Given the description of an element on the screen output the (x, y) to click on. 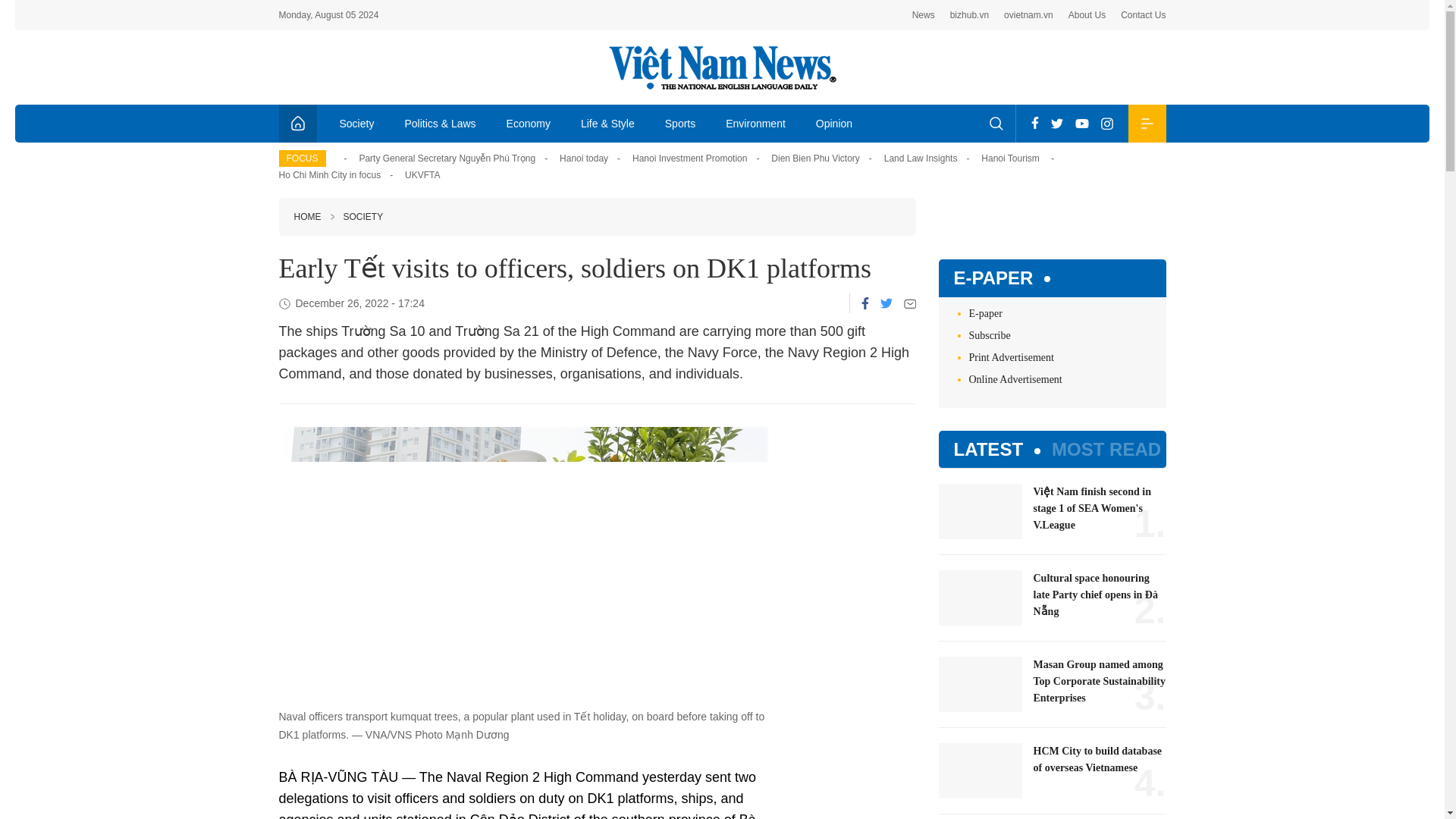
Twitter (1056, 122)
Environment (755, 123)
Twitter (885, 303)
ovietnam.vn (1028, 15)
Contact Us (1143, 15)
Economy (529, 123)
Instagram (1106, 123)
About Us (1086, 15)
Youtube (1081, 122)
Facebook (865, 303)
Email (909, 303)
Society (357, 123)
bizhub.vn (969, 15)
News (923, 15)
Sports (679, 123)
